Given the description of an element on the screen output the (x, y) to click on. 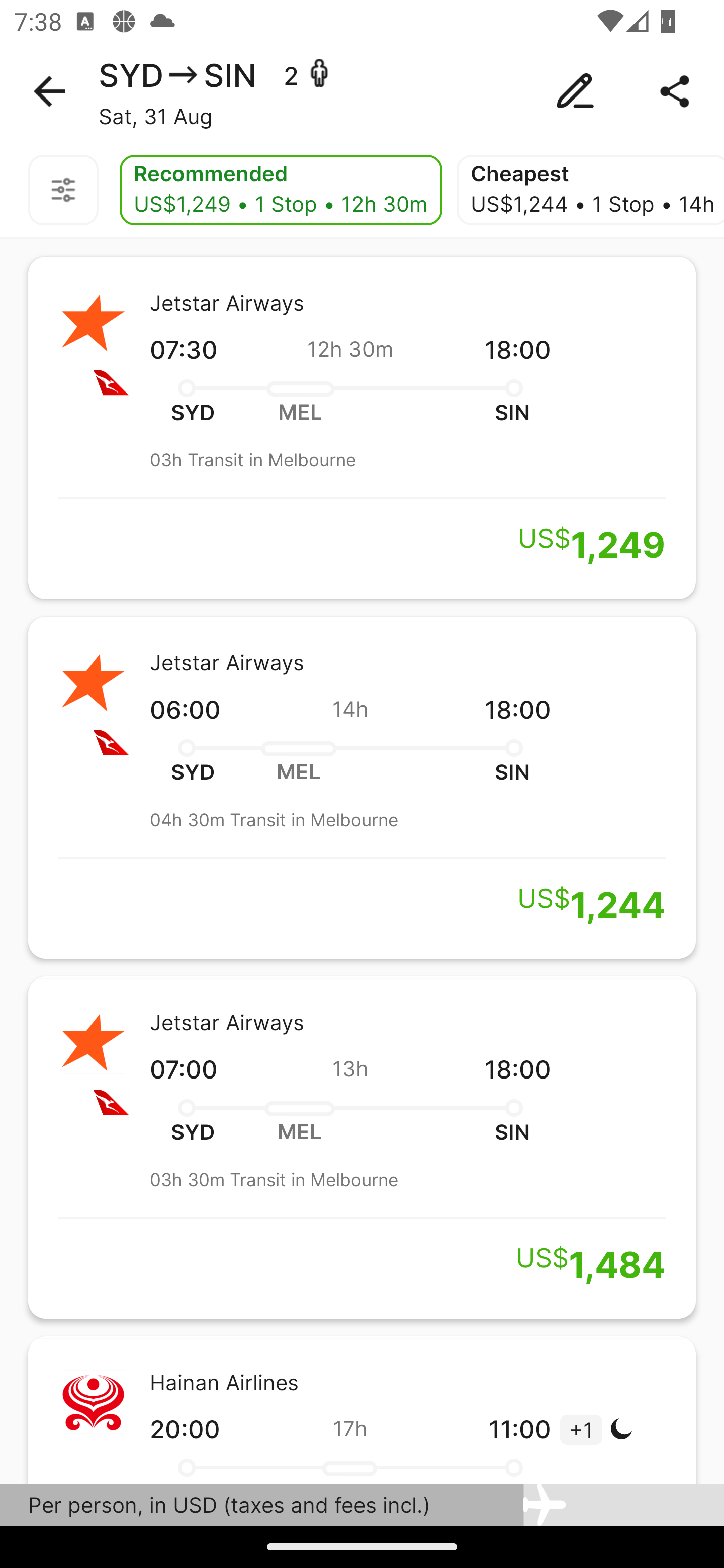
SYD SIN   2 - Sat, 31 Aug (361, 91)
Recommended  US$1,249 • 1 Stop • 12h 30m (280, 190)
Cheapest US$1,244 • 1 Stop • 14h (590, 190)
Hainan Airlines 20:00 17h 11:00 SYD HAK SIN +1 (361, 1409)
